Given the description of an element on the screen output the (x, y) to click on. 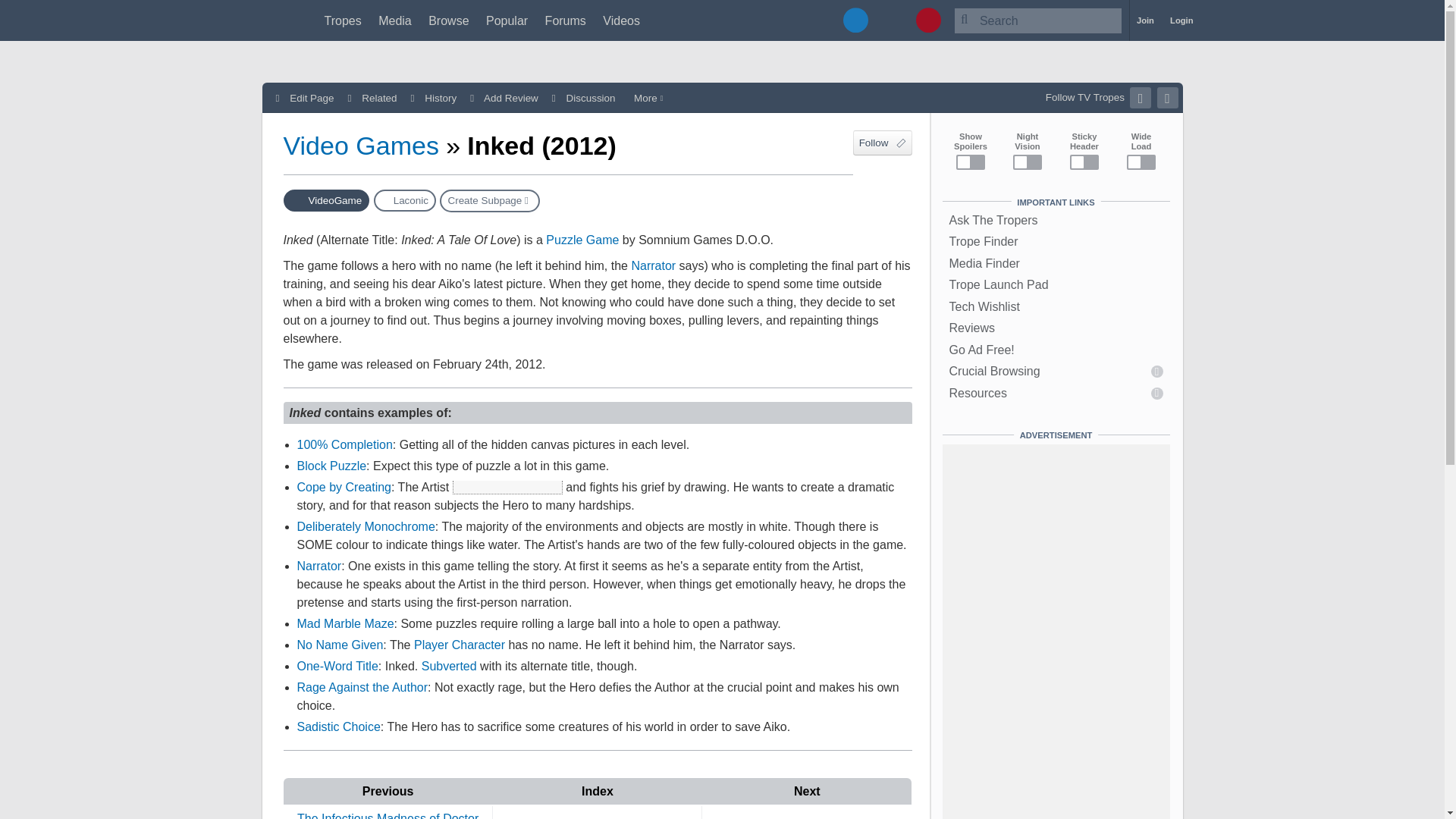
you can set spoilers visible by default on your profile (507, 487)
The Laconic page (404, 200)
Media (395, 20)
Tropes (342, 20)
Browse (448, 20)
Popular (506, 20)
Login (1181, 20)
Forums (565, 20)
The Video Game page (326, 200)
Videos (621, 20)
